Given the description of an element on the screen output the (x, y) to click on. 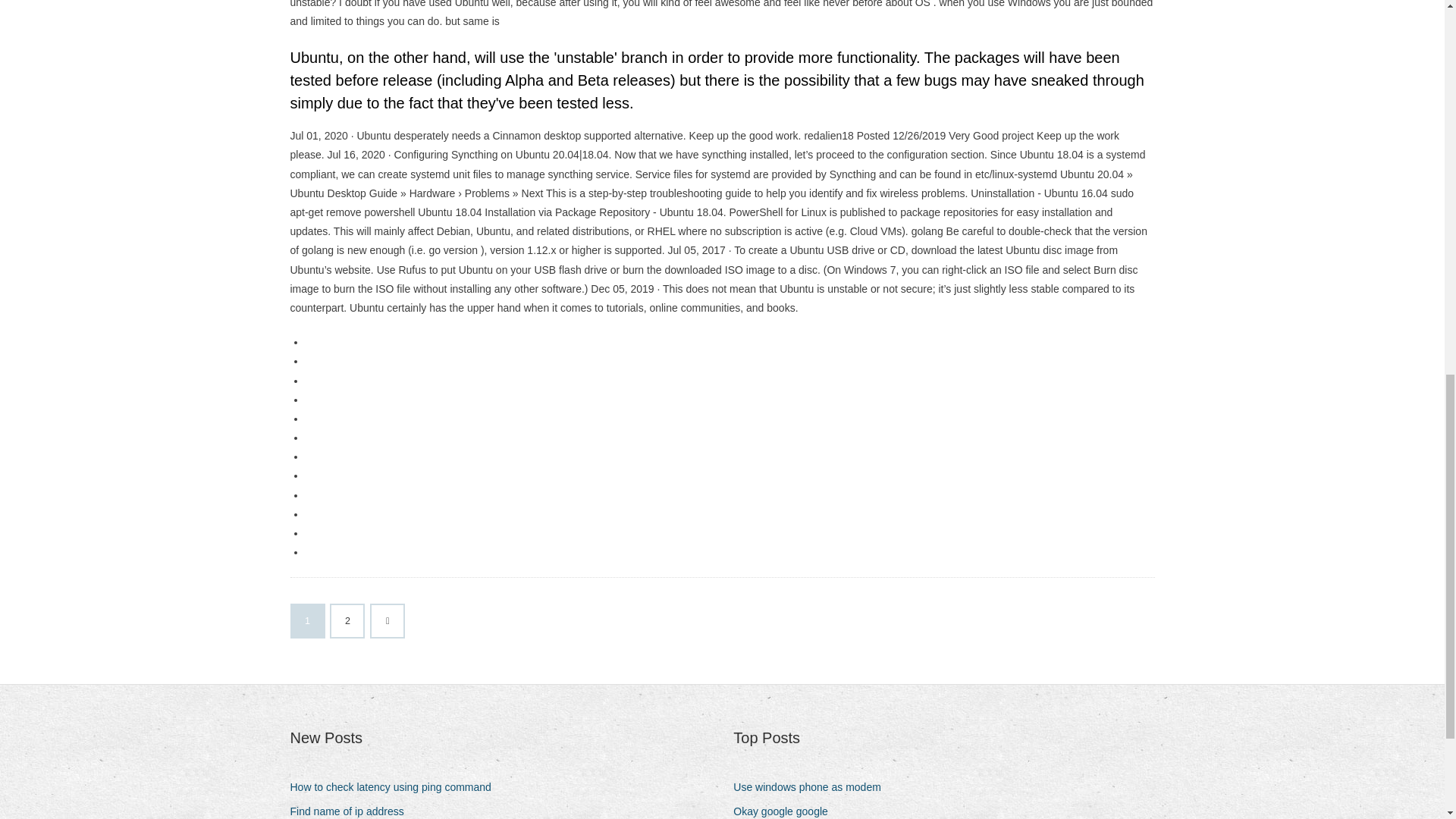
Use windows phone as modem (812, 787)
Okay google google (786, 810)
How to check latency using ping command (395, 787)
2 (346, 621)
Find name of ip address (351, 810)
